Given the description of an element on the screen output the (x, y) to click on. 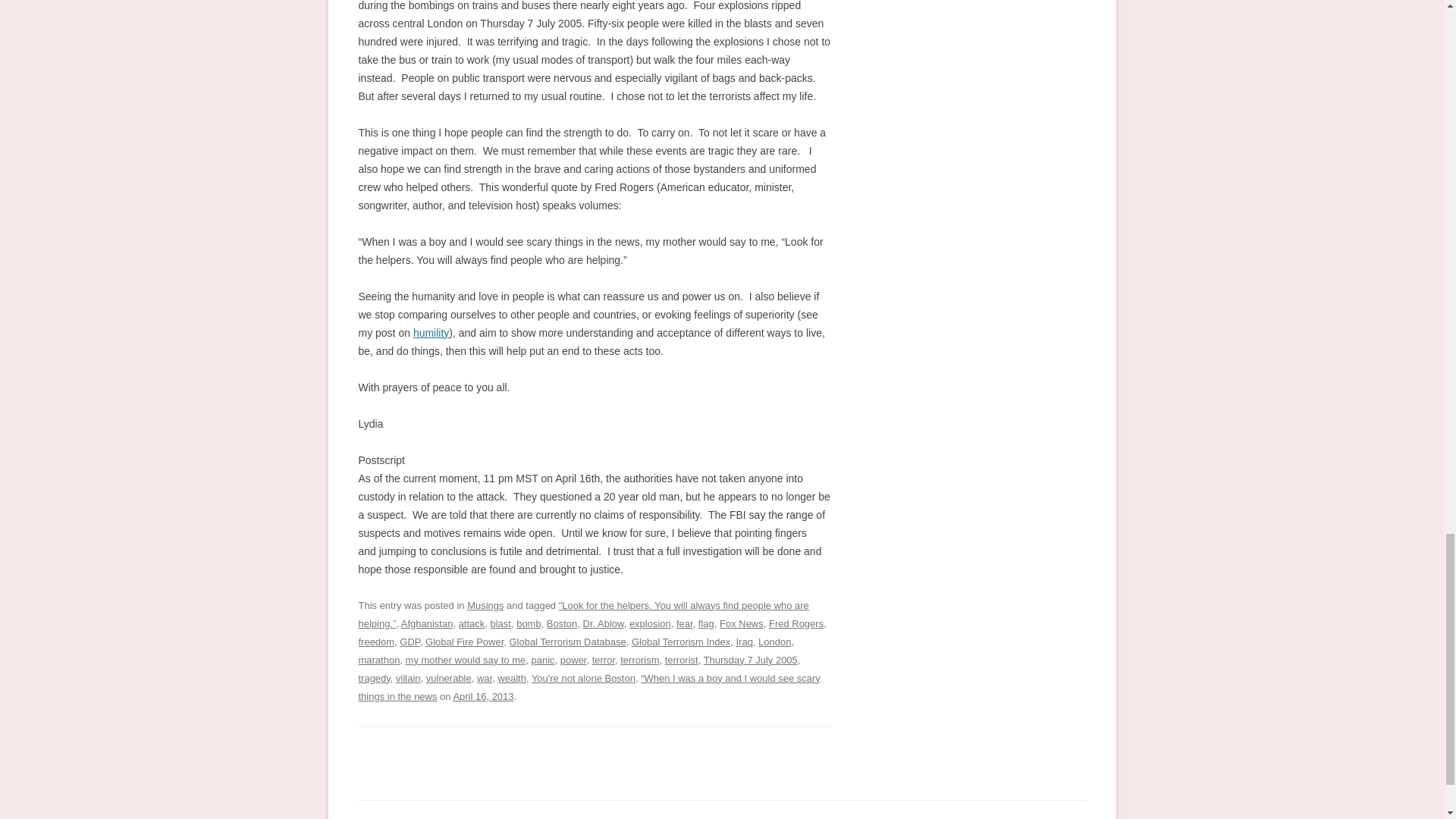
humility (430, 332)
freedom (376, 641)
Iraq (743, 641)
Global Fire Power (464, 641)
Musings (485, 604)
terror (603, 659)
Global Terrorism Database (567, 641)
Afghanistan (426, 623)
attack (471, 623)
power (573, 659)
bomb (528, 623)
Fox News (740, 623)
Dr. Ablow (603, 623)
flag (706, 623)
explosion (649, 623)
